Given the description of an element on the screen output the (x, y) to click on. 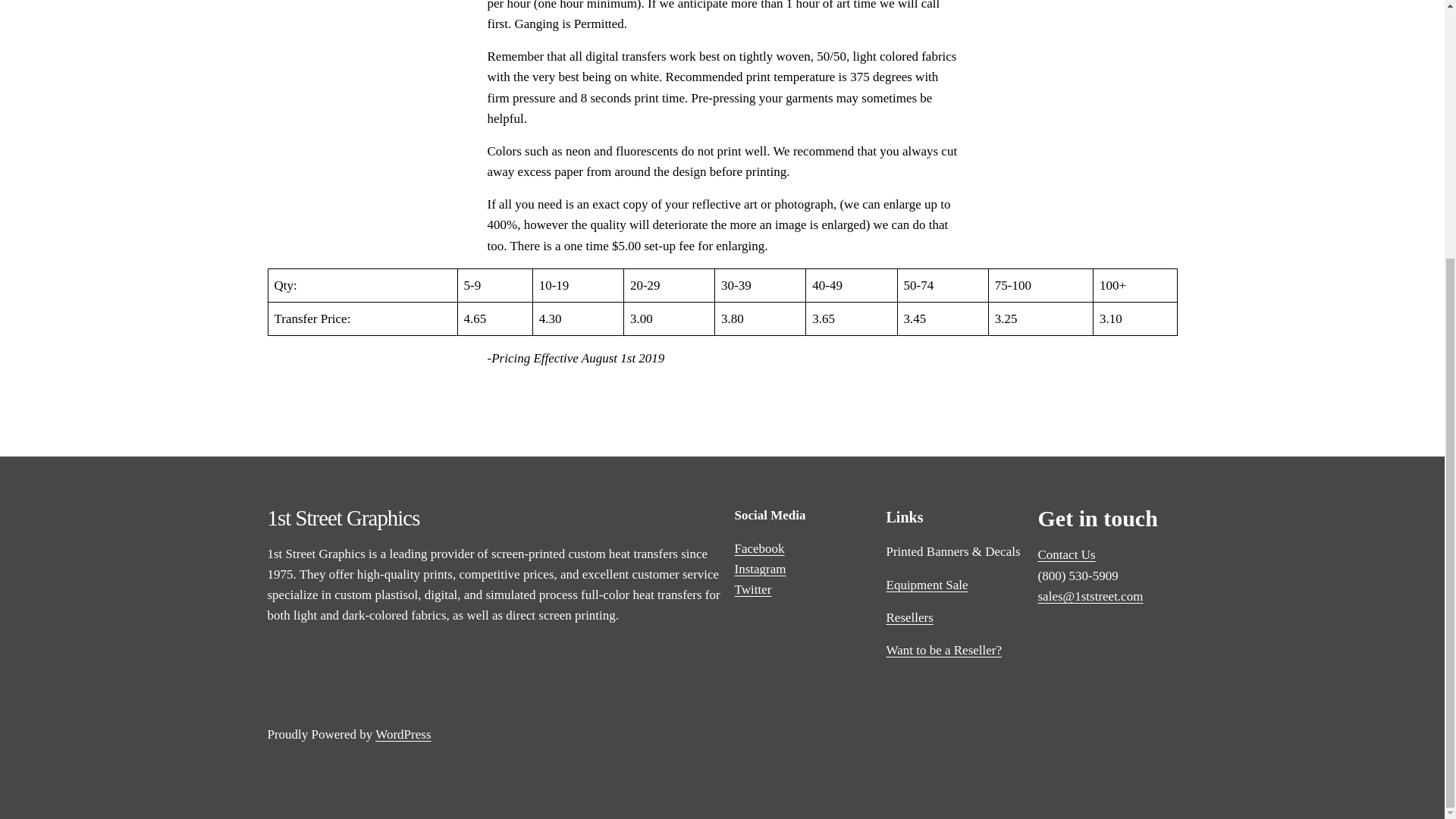
WordPress (402, 734)
Facebook (758, 548)
Instagram (759, 568)
Twitter (752, 589)
1st Street Graphics (342, 517)
Want to be a Reseller? (943, 649)
Resellers (909, 617)
Equipment Sale (926, 585)
Contact Us (1065, 554)
